Given the description of an element on the screen output the (x, y) to click on. 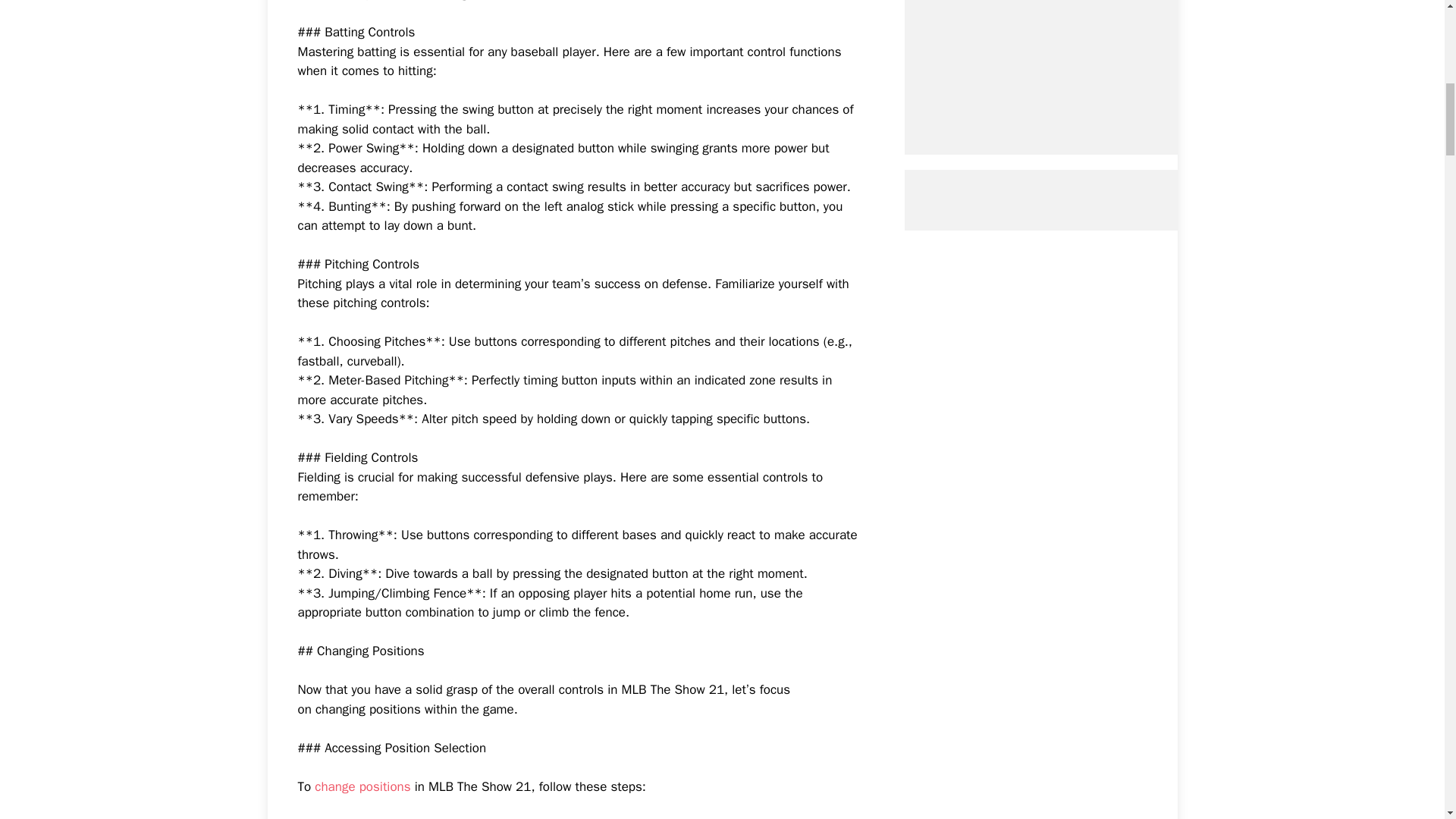
Scroll back to top (1406, 720)
change positions (362, 786)
Advertisement (1066, 62)
